Given the description of an element on the screen output the (x, y) to click on. 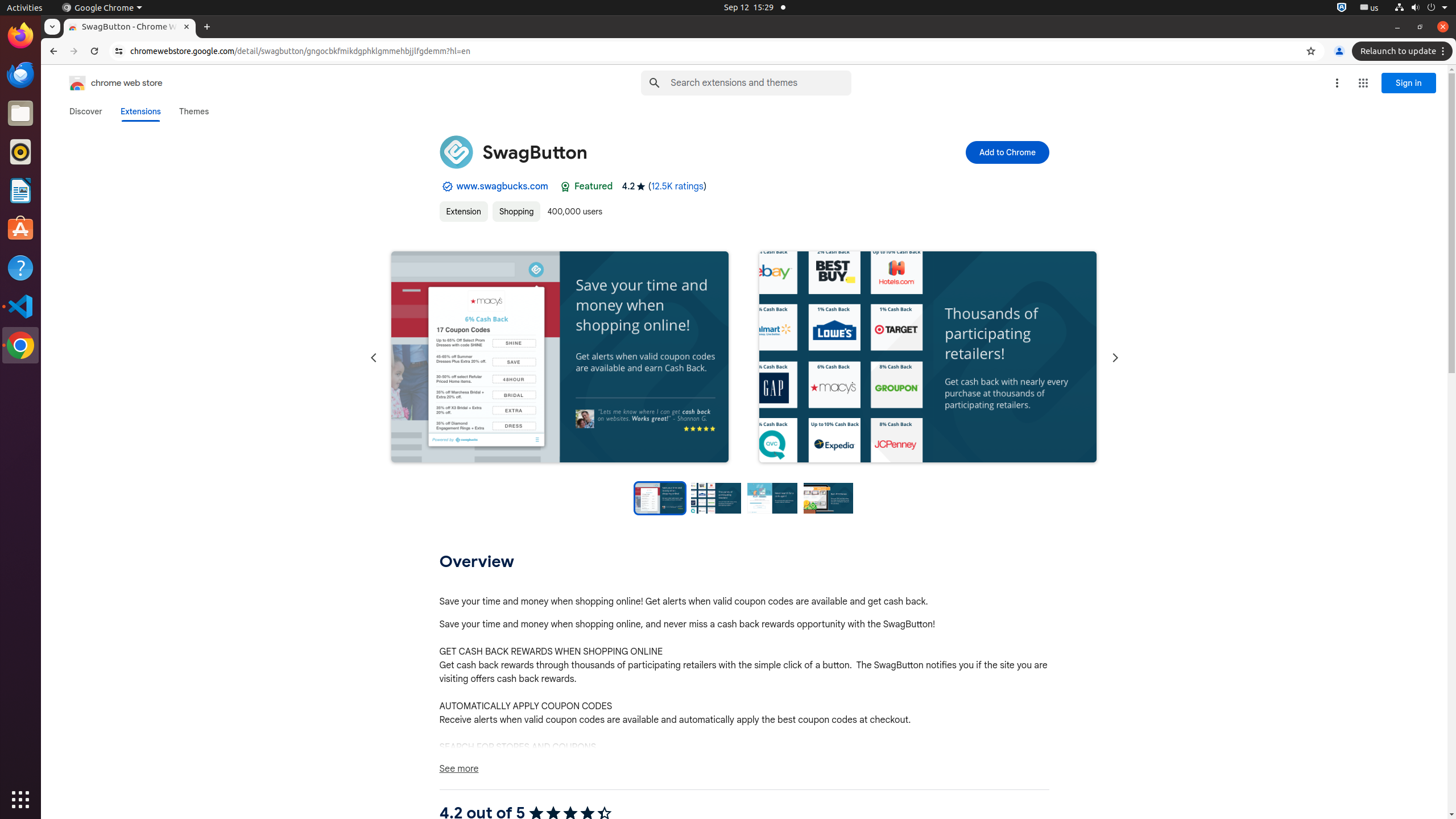
Add to Chrome Element type: push-button (1007, 152)
Featured Badge Element type: push-button (564, 186)
Visual Studio Code Element type: push-button (20, 306)
Previous slide Element type: push-button (373, 357)
Preview slide 2 Element type: push-button (716, 498)
